Given the description of an element on the screen output the (x, y) to click on. 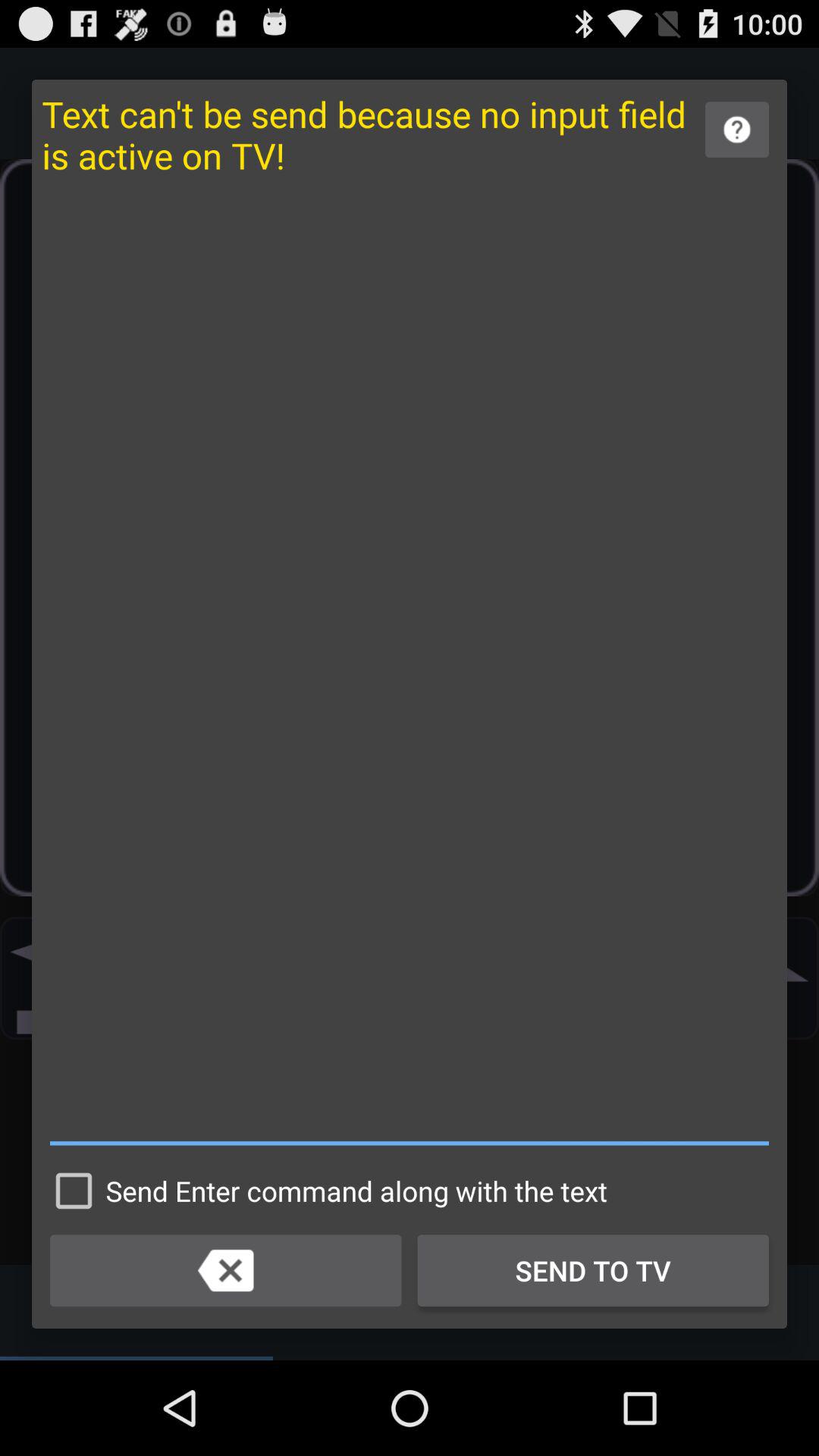
open the   at the center (409, 669)
